Given the description of an element on the screen output the (x, y) to click on. 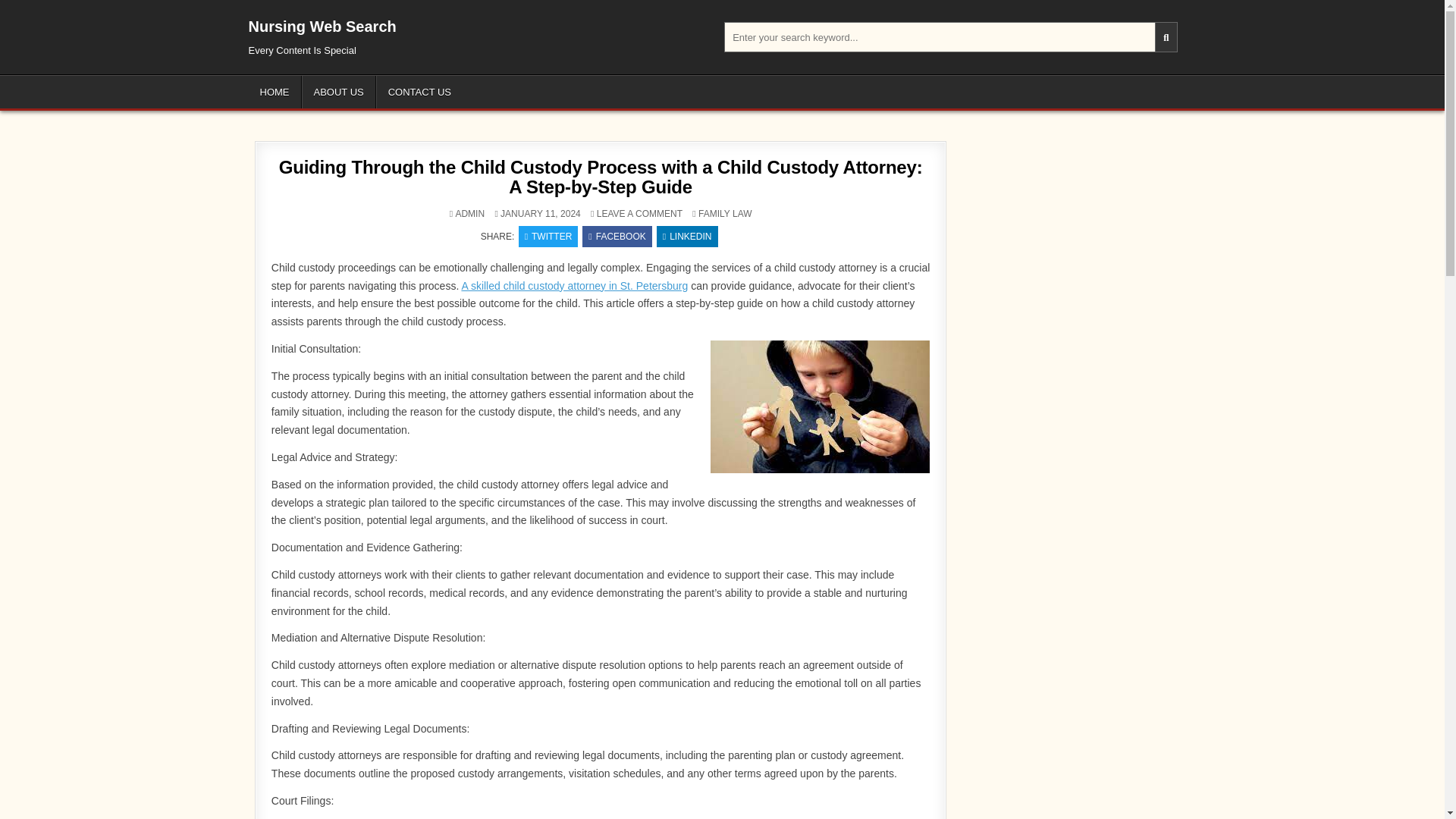
Tweet This! (548, 236)
A skilled child custody attorney in St. Petersburg (574, 285)
LINKEDIN (686, 236)
ADMIN (469, 213)
TWITTER (548, 236)
Share this on Facebook (616, 236)
Nursing Web Search (322, 26)
Share this on Linkedin (686, 236)
ABOUT US (338, 92)
CONTACT US (419, 92)
FAMILY LAW (724, 213)
FACEBOOK (616, 236)
HOME (274, 92)
